Given the description of an element on the screen output the (x, y) to click on. 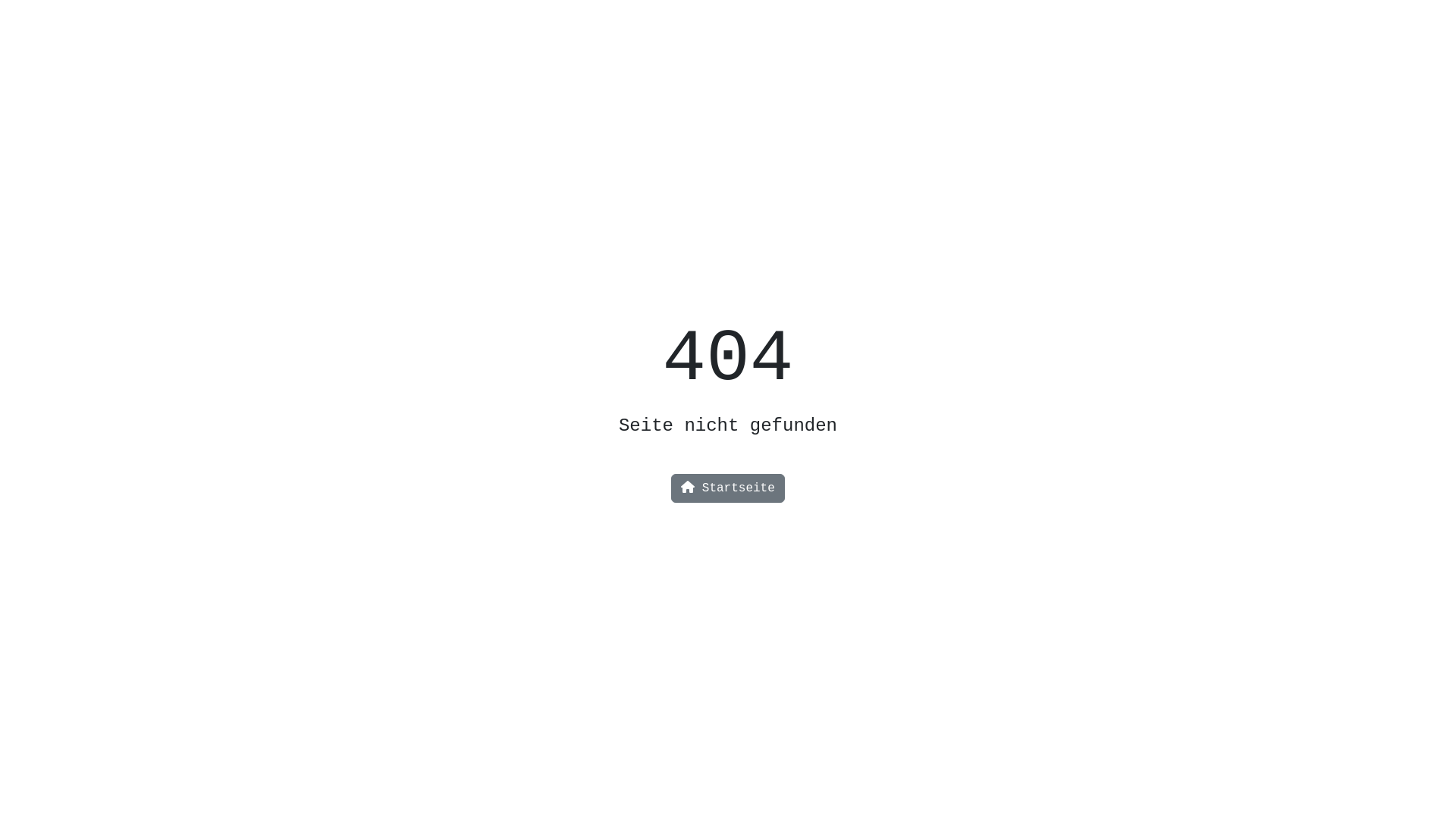
Startseite Element type: text (727, 487)
